Given the description of an element on the screen output the (x, y) to click on. 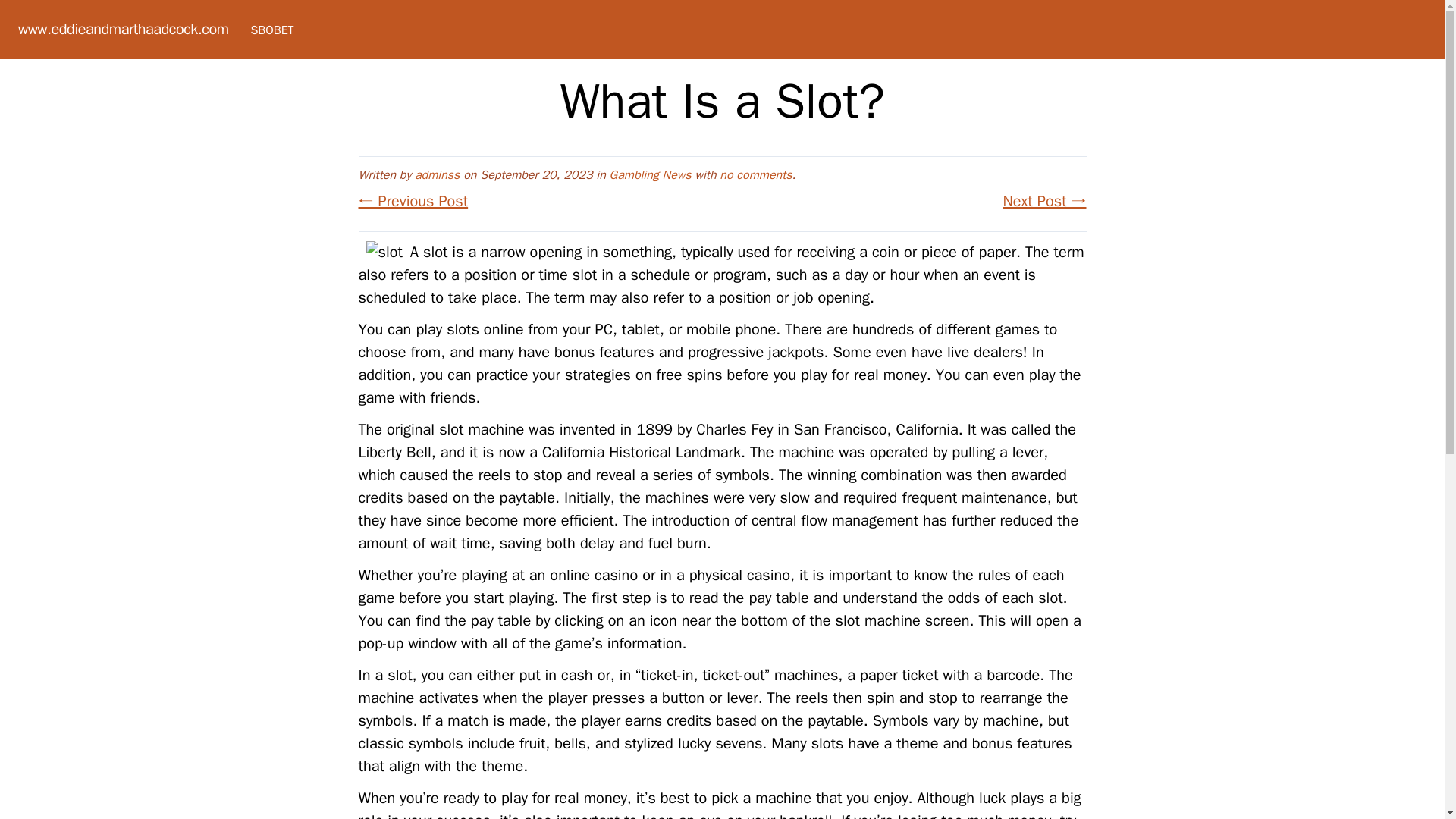
Gambling News (650, 174)
SBOBET (272, 30)
www.eddieandmarthaadcock.com (122, 29)
no comments (755, 174)
no comments (755, 174)
adminss (437, 174)
